Given the description of an element on the screen output the (x, y) to click on. 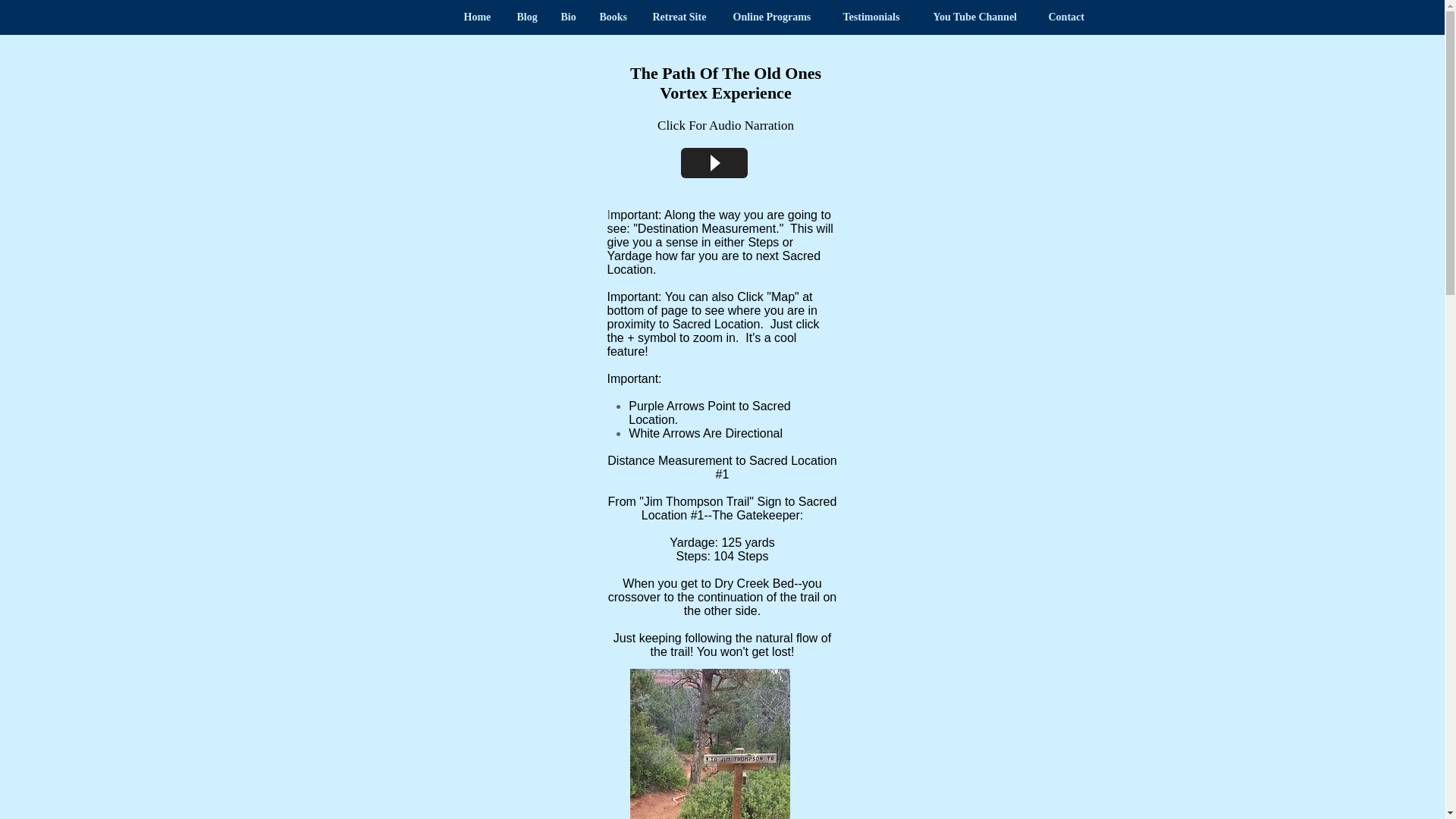
Online Programs (776, 16)
Testimonials (876, 16)
Home (478, 16)
Contact (1067, 16)
Books (615, 16)
Blog (526, 16)
Bio (568, 16)
You Tube Channel (978, 16)
Retreat Site (682, 16)
